Given the description of an element on the screen output the (x, y) to click on. 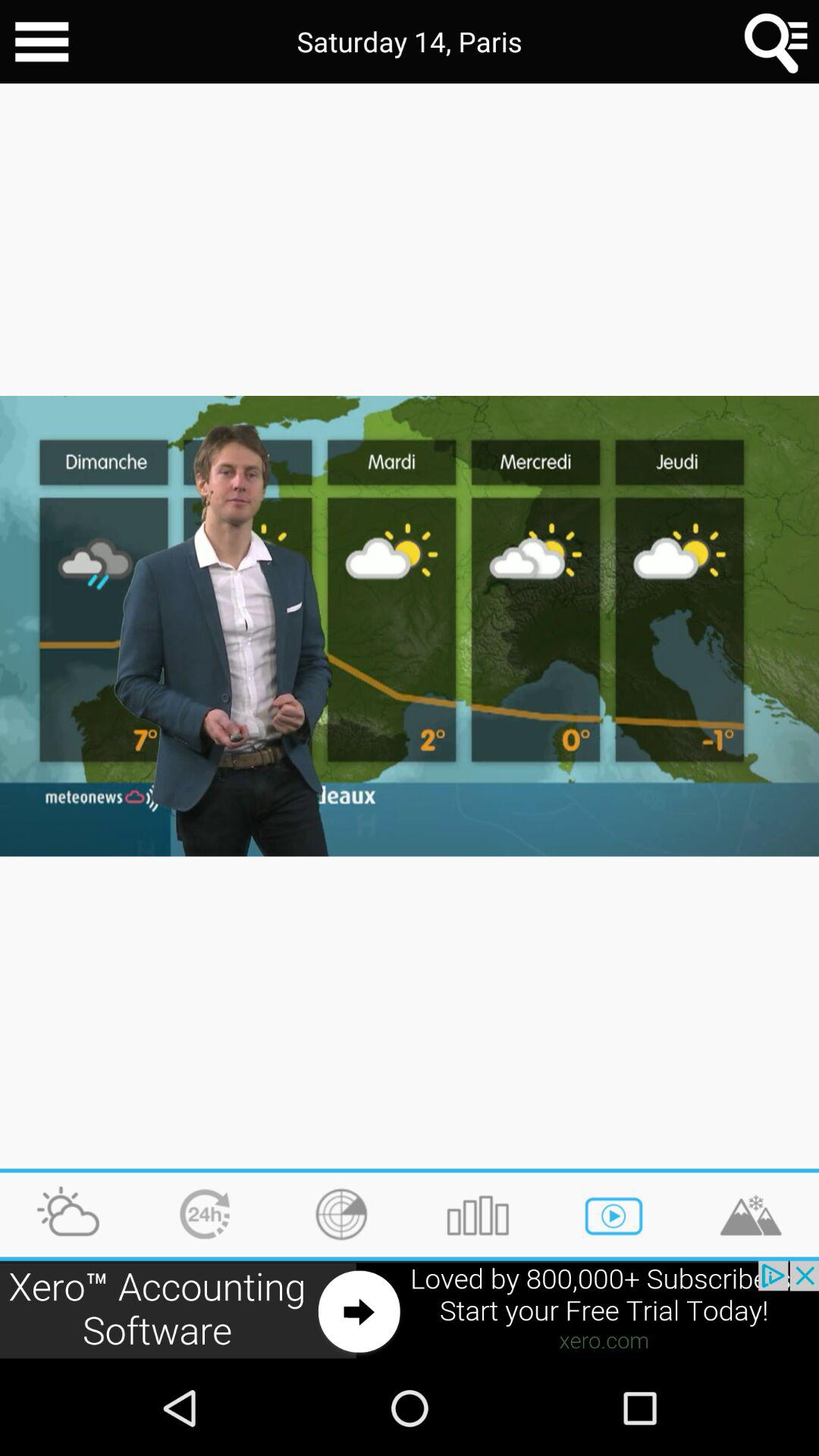
advertisement (409, 1310)
